Given the description of an element on the screen output the (x, y) to click on. 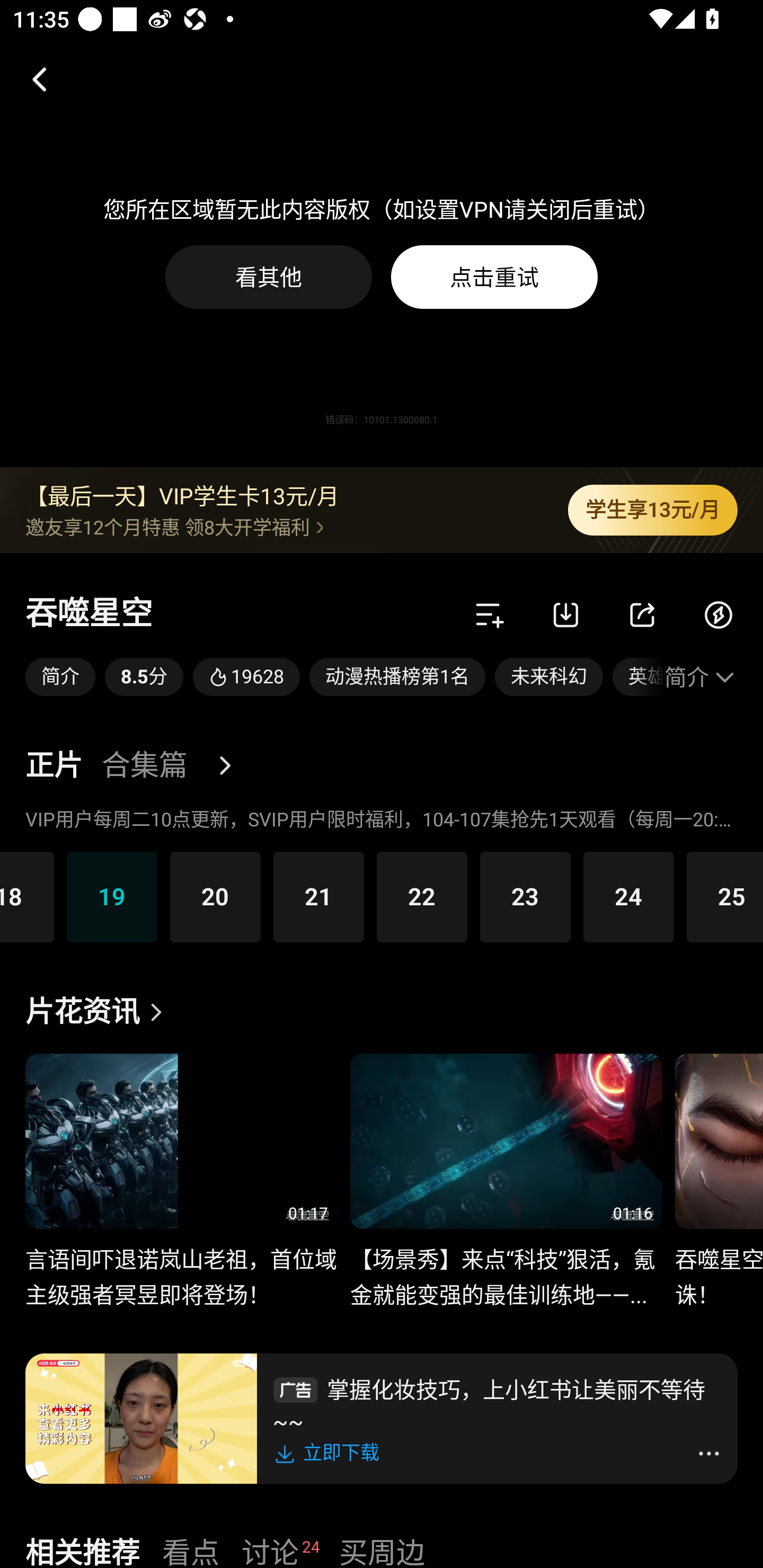
返回，按钮 (31, 78)
看其他 您所在区域暂无此内容版权（如设置VPN请关闭后重试） 看其他按钮 (268, 276)
点击重试 您所在区域暂无此内容版权（如设置VPN请关闭后重试） 点击重试按钮 (493, 276)
学生享13元/月 (652, 510)
邀友享12个月特惠 领8大开学福利 (283, 526)
吞噬星空 (88, 614)
加追,双击可加追,按钮 (489, 614)
下载,链接 (566, 614)
分享,链接 (642, 614)
发电,链接 (718, 614)
简介 简介,链接 (60, 677)
8.5分 8.5分,链接 (144, 677)
19628 热度值 19628,链接 (246, 677)
动漫热播榜第1名 动漫热播榜第1名,链接 (397, 677)
未来科幻 未来科幻,链接 (548, 677)
英雄成长 英雄成长,链接 (638, 677)
简介 (700, 677)
正片 (53, 765)
合集篇 (144, 765)
更多,链接 (231, 765)
第18集 18 (27, 896)
第19集 19 (112, 896)
第20集 20 (215, 896)
第21集 21 (318, 896)
第22集 22 (421, 896)
第23集 23 (524, 896)
第24集 24 (628, 896)
第25集 25 (724, 896)
片花资讯 链接 (98, 1011)
言语间吓退诺岚山老祖，首位域主级强者冥昱即将登场！ (181, 1267)
【场景秀】来点“科技”狠活，氪金就能变强的最佳训练地——... (506, 1267)
imgimg掌握化妆技巧，上小红书让美丽不等待~~ (497, 1403)
立即下载 (330, 1452)
相关推荐 (82, 1549)
看点 (190, 1549)
讨论 (270, 1549)
买周边 (381, 1549)
